Given the description of an element on the screen output the (x, y) to click on. 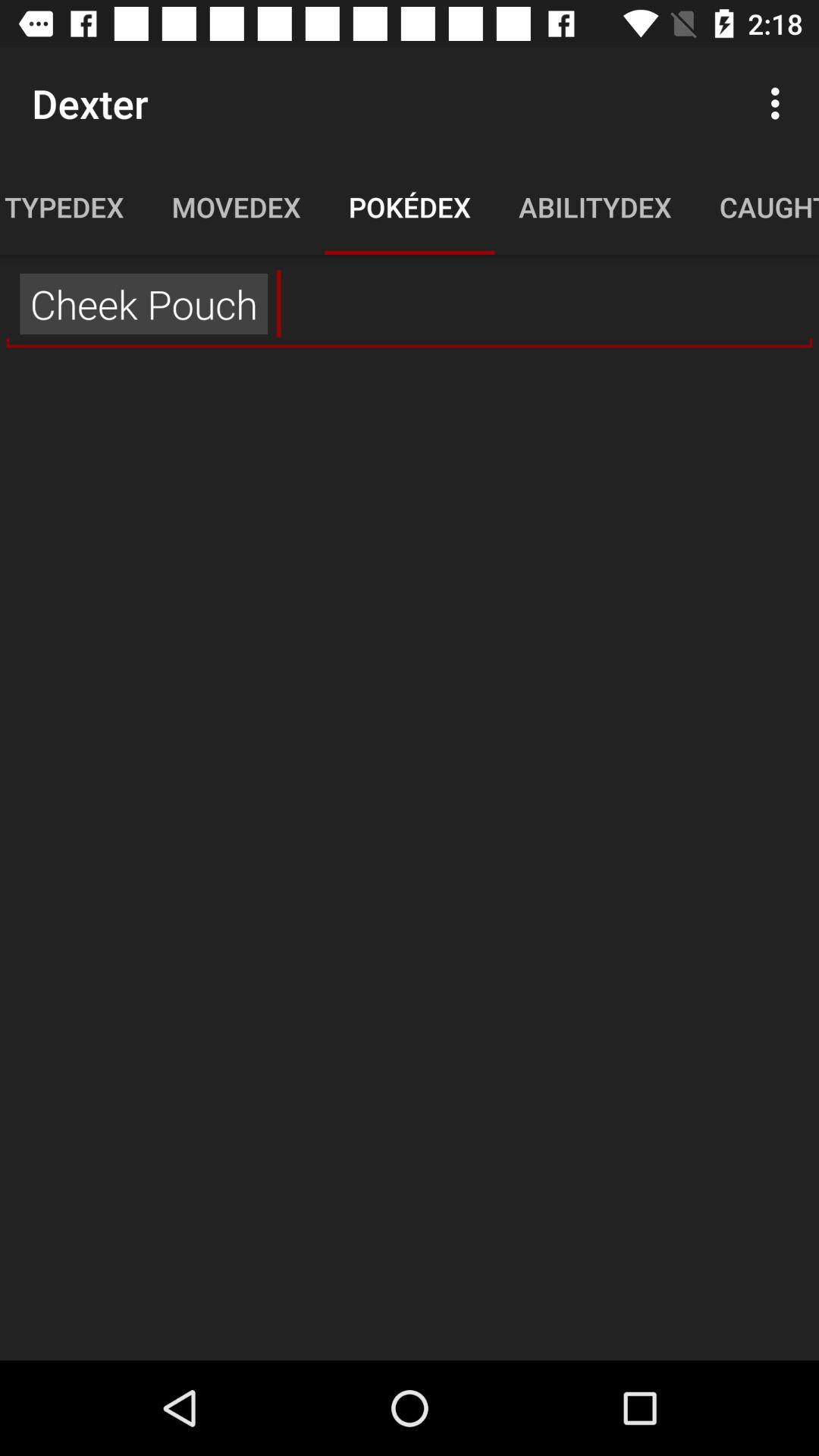
launch the icon at the center (409, 857)
